Given the description of an element on the screen output the (x, y) to click on. 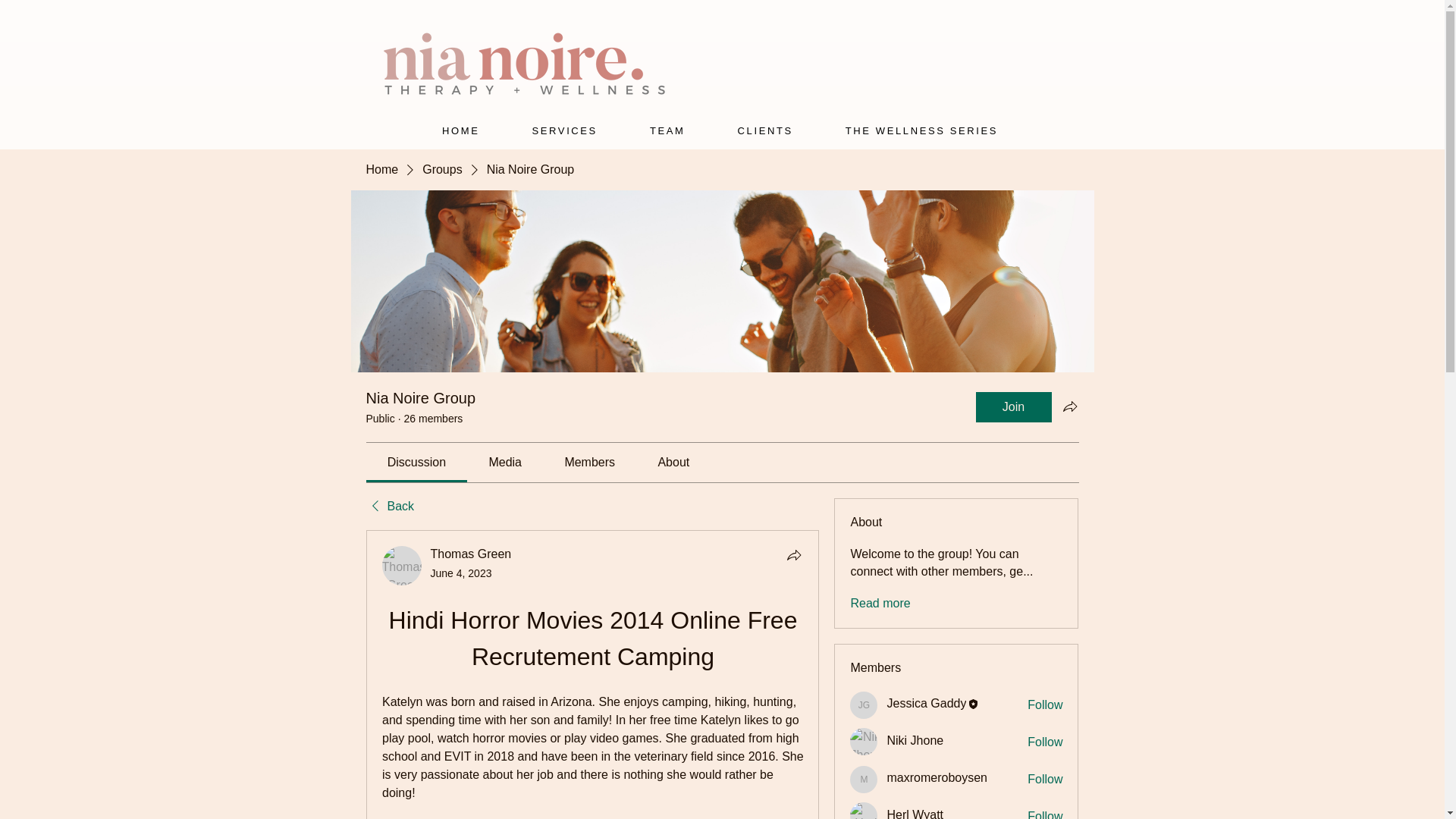
Follow (1044, 704)
Jessica Gaddy (863, 705)
Groups (441, 169)
THE WELLNESS SERIES (921, 130)
Follow (1044, 779)
Back (389, 506)
June 4, 2023 (461, 573)
Follow (1044, 742)
Thomas Green (401, 565)
SERVICES (564, 130)
HOME (460, 130)
Herl Wyatt (863, 810)
Follow (1044, 813)
TEAM (666, 130)
CLIENTS (764, 130)
